Given the description of an element on the screen output the (x, y) to click on. 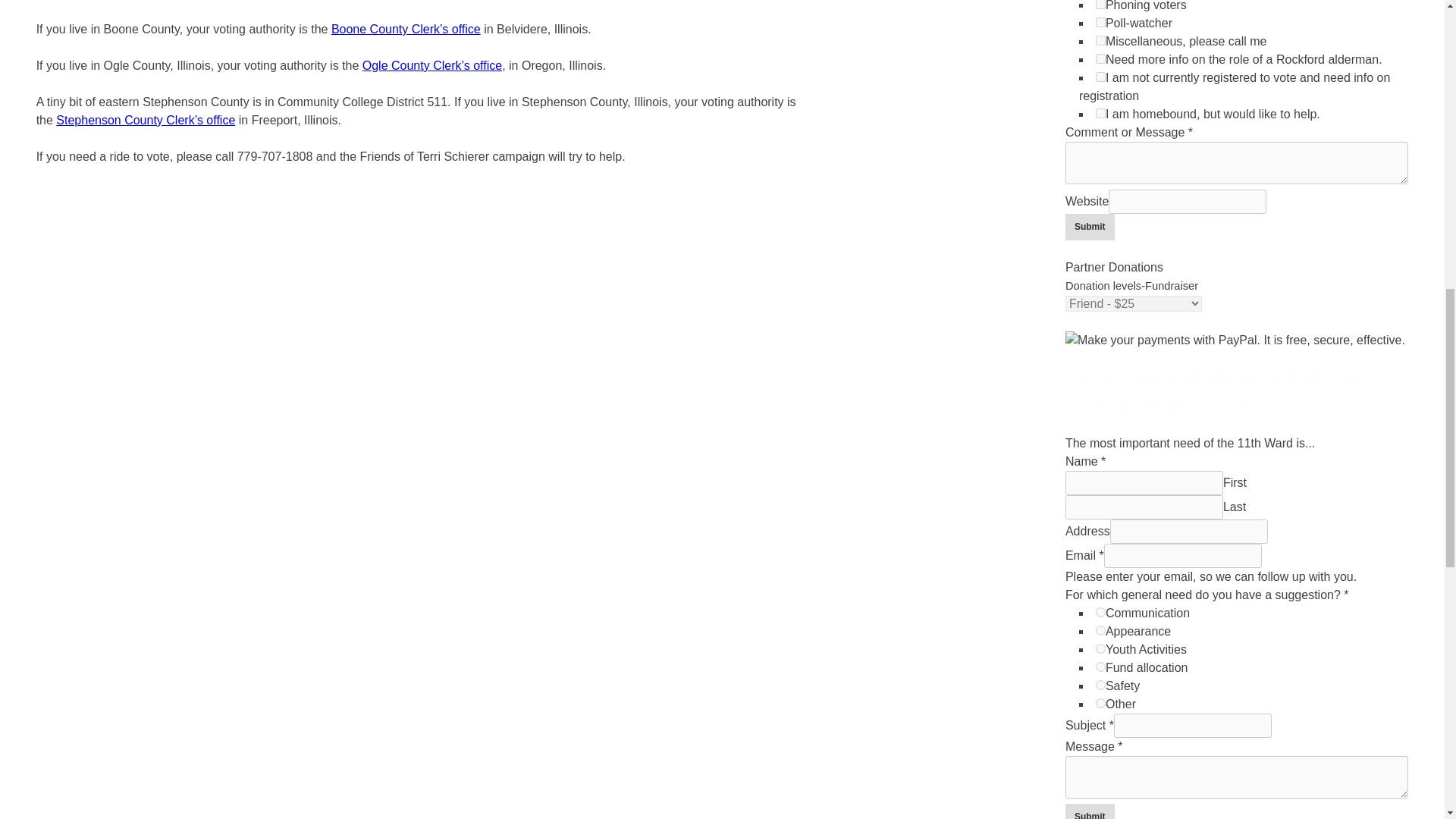
Miscellaneous, please call me (1100, 40)
Poll-watcher (1100, 22)
Submit (1090, 226)
Phoning voters (1100, 4)
Submit (1090, 811)
Need more info on the role of a Rockford alderman. (1100, 58)
